Given the description of an element on the screen output the (x, y) to click on. 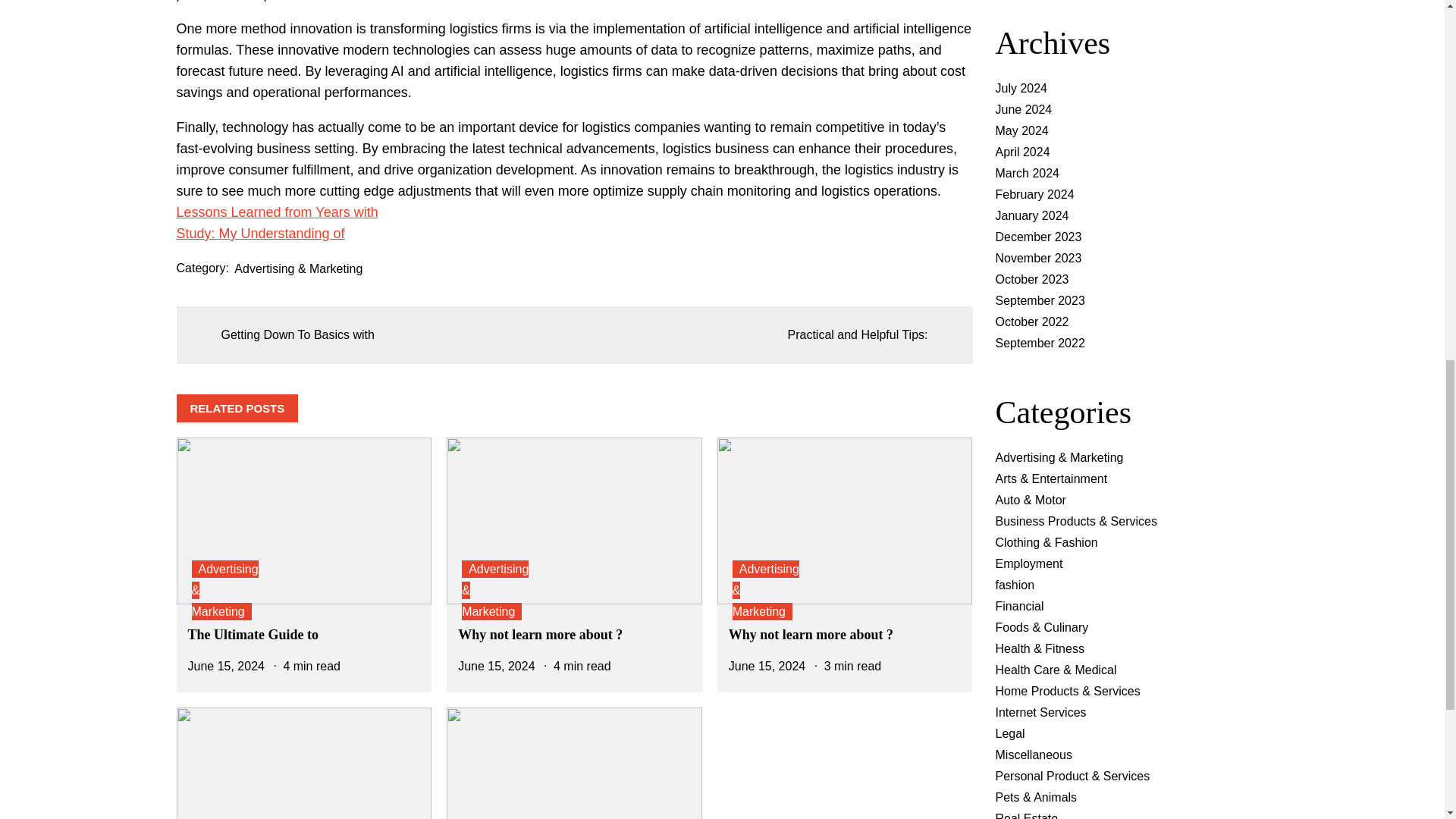
February 2024 (1034, 194)
Study: My Understanding of (259, 233)
The Ultimate Guide to (252, 634)
June 15, 2024 (767, 666)
July 2024 (1020, 88)
March 2024 (1026, 173)
Lessons Learned from Years with (276, 212)
January 2024 (1031, 215)
June 15, 2024 (225, 666)
Why not learn more about ? (811, 634)
April 2024 (1021, 151)
Why not learn more about ? (540, 634)
June 2024 (1022, 109)
December 2023 (1037, 236)
June 15, 2024 (496, 666)
